Given the description of an element on the screen output the (x, y) to click on. 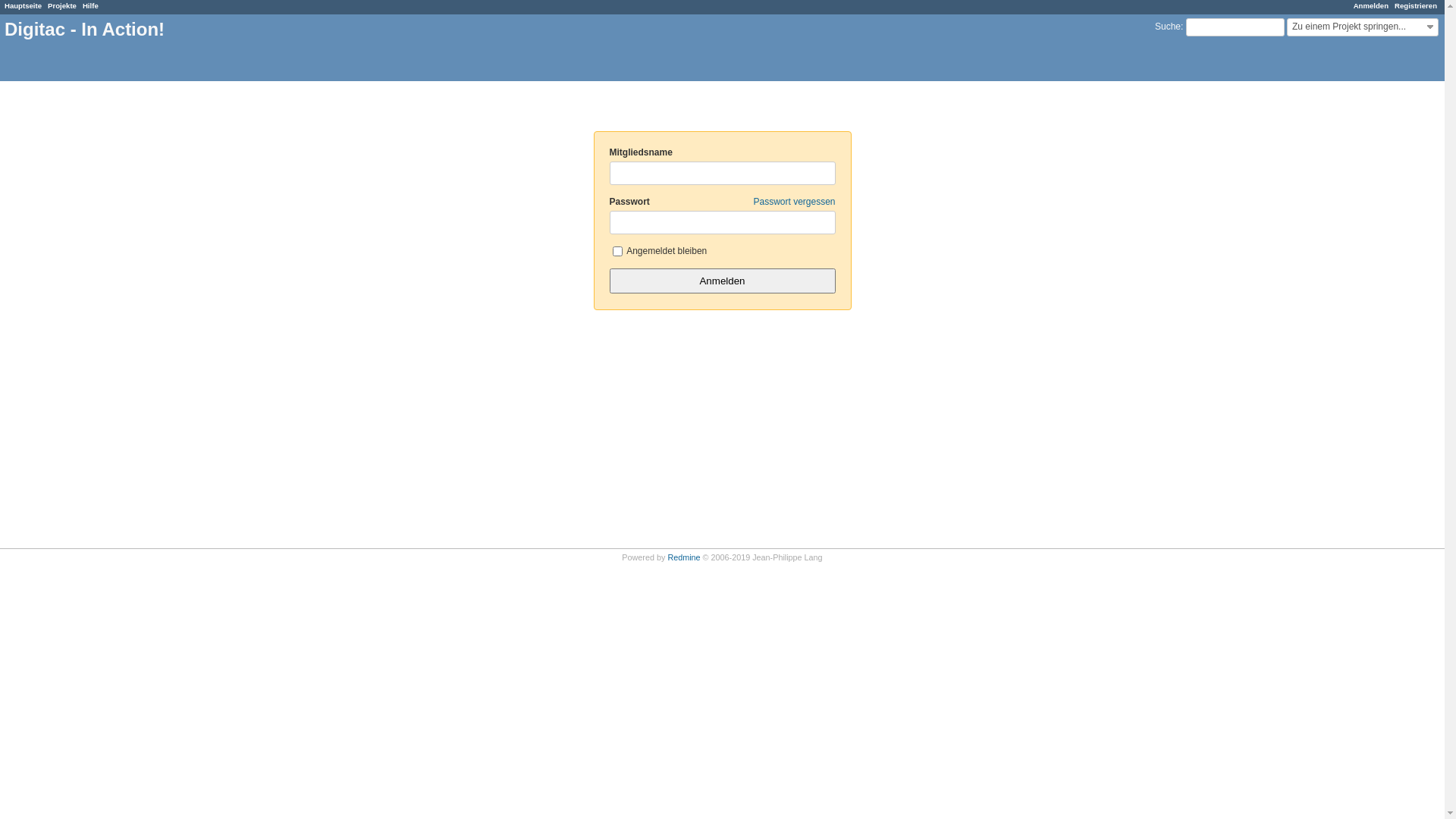
Redmine Element type: text (683, 556)
Registrieren Element type: text (1415, 5)
Suche Element type: text (1167, 26)
Hilfe Element type: text (90, 5)
Projekte Element type: text (61, 5)
Hauptseite Element type: text (22, 5)
Anmelden Element type: text (722, 280)
Passwort vergessen Element type: text (793, 201)
Anmelden Element type: text (1370, 5)
